Given the description of an element on the screen output the (x, y) to click on. 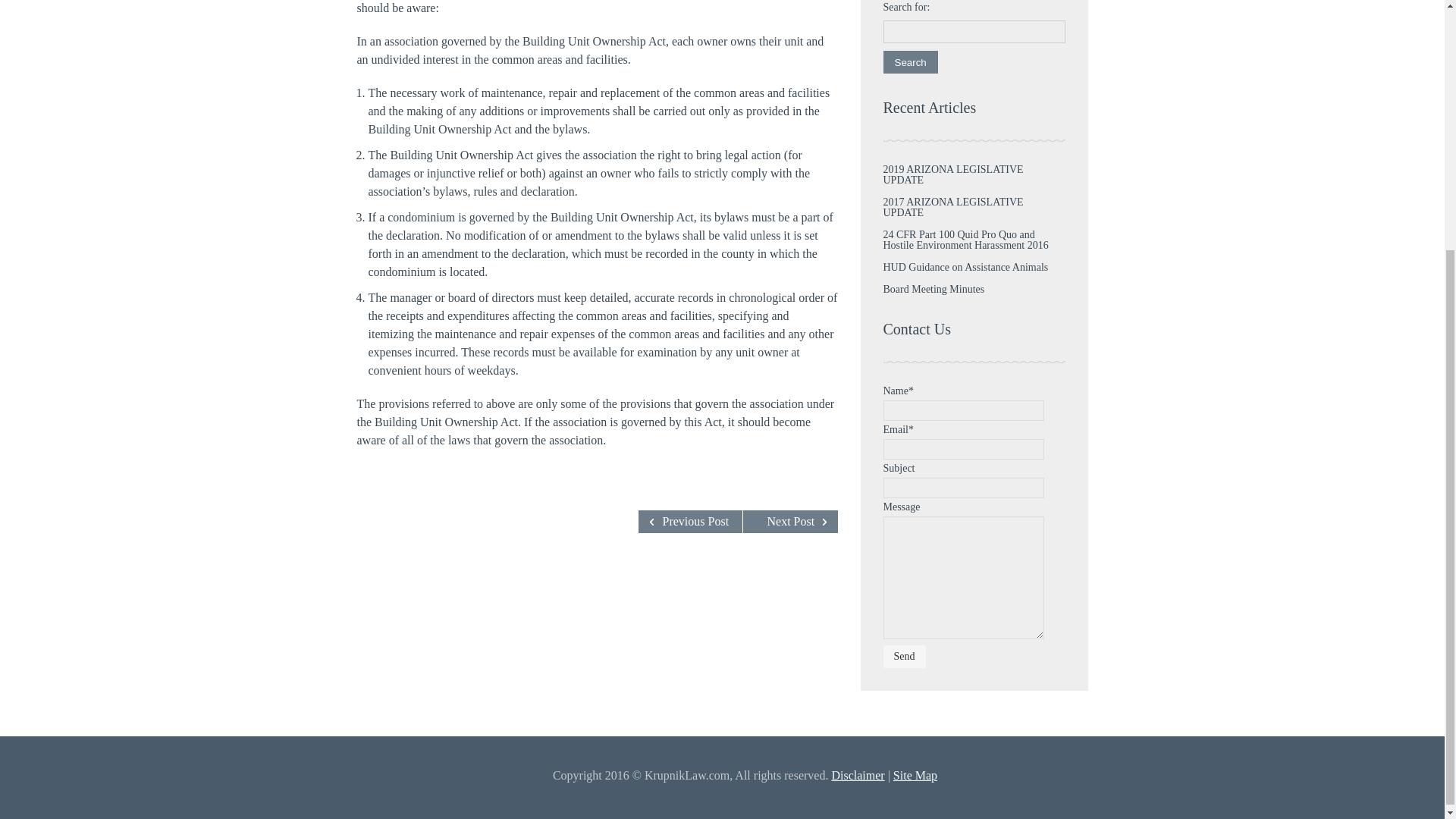
Previous Post (690, 521)
Site Map (915, 775)
Disclaimer (857, 775)
2019 ARIZONA LEGISLATIVE UPDATE (952, 174)
Next Post (790, 521)
2017 ARIZONA LEGISLATIVE UPDATE (952, 207)
Send (903, 656)
Search (909, 61)
Board Meeting Minutes (933, 288)
